Given the description of an element on the screen output the (x, y) to click on. 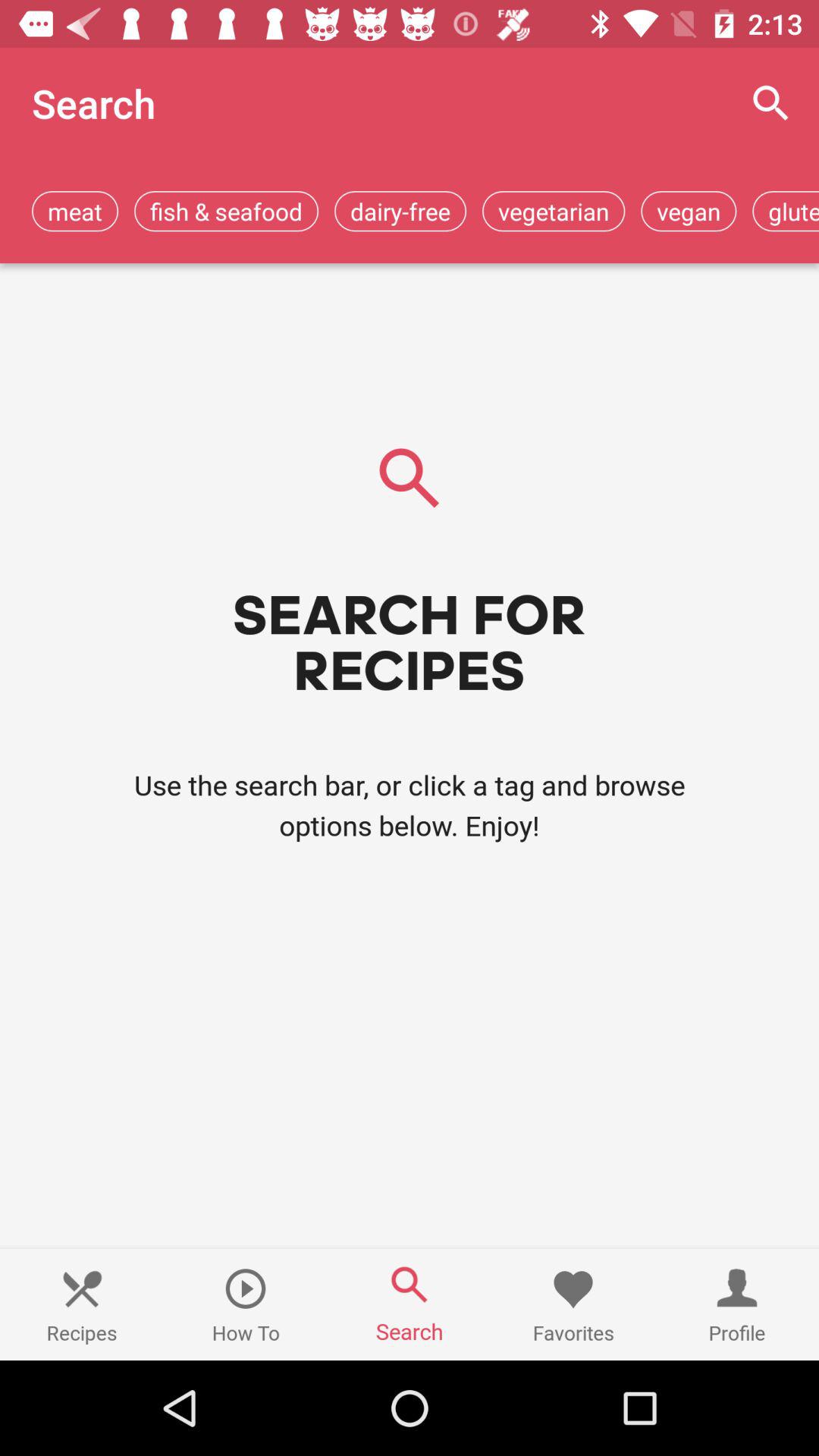
click item to the left of the vegan app (553, 211)
